Given the description of an element on the screen output the (x, y) to click on. 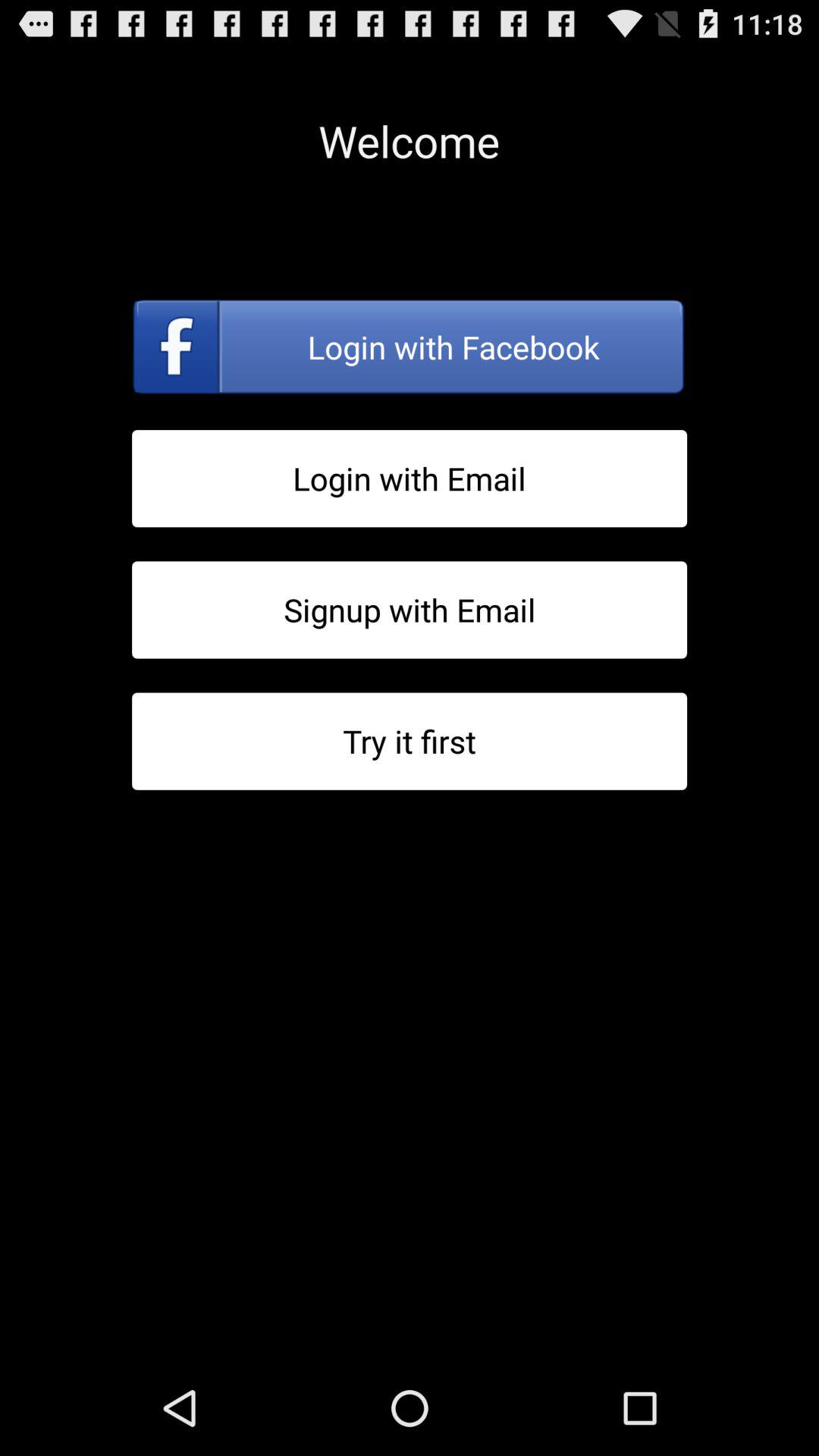
login (409, 478)
